Given the description of an element on the screen output the (x, y) to click on. 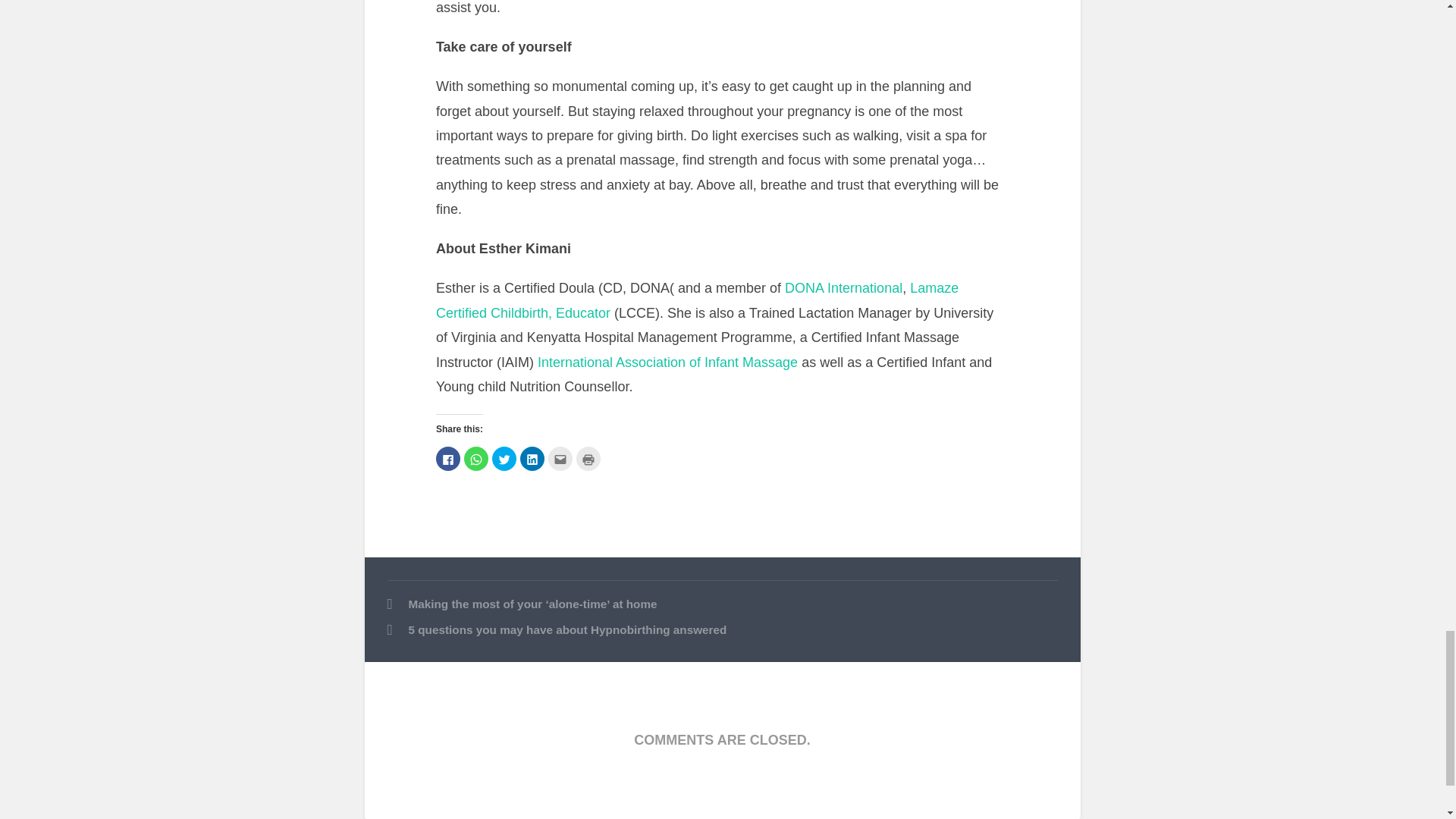
Click to share on Facebook (447, 458)
Lamaze Certified Childbirth, Educator (696, 300)
DONA International (843, 287)
Click to print (587, 458)
Click to email this to a friend (560, 458)
Click to share on WhatsApp (475, 458)
International Association of Infant Massage (667, 362)
Click to share on Twitter (504, 458)
Click to share on LinkedIn (531, 458)
5 questions you may have about Hypnobirthing answered (722, 630)
